Given the description of an element on the screen output the (x, y) to click on. 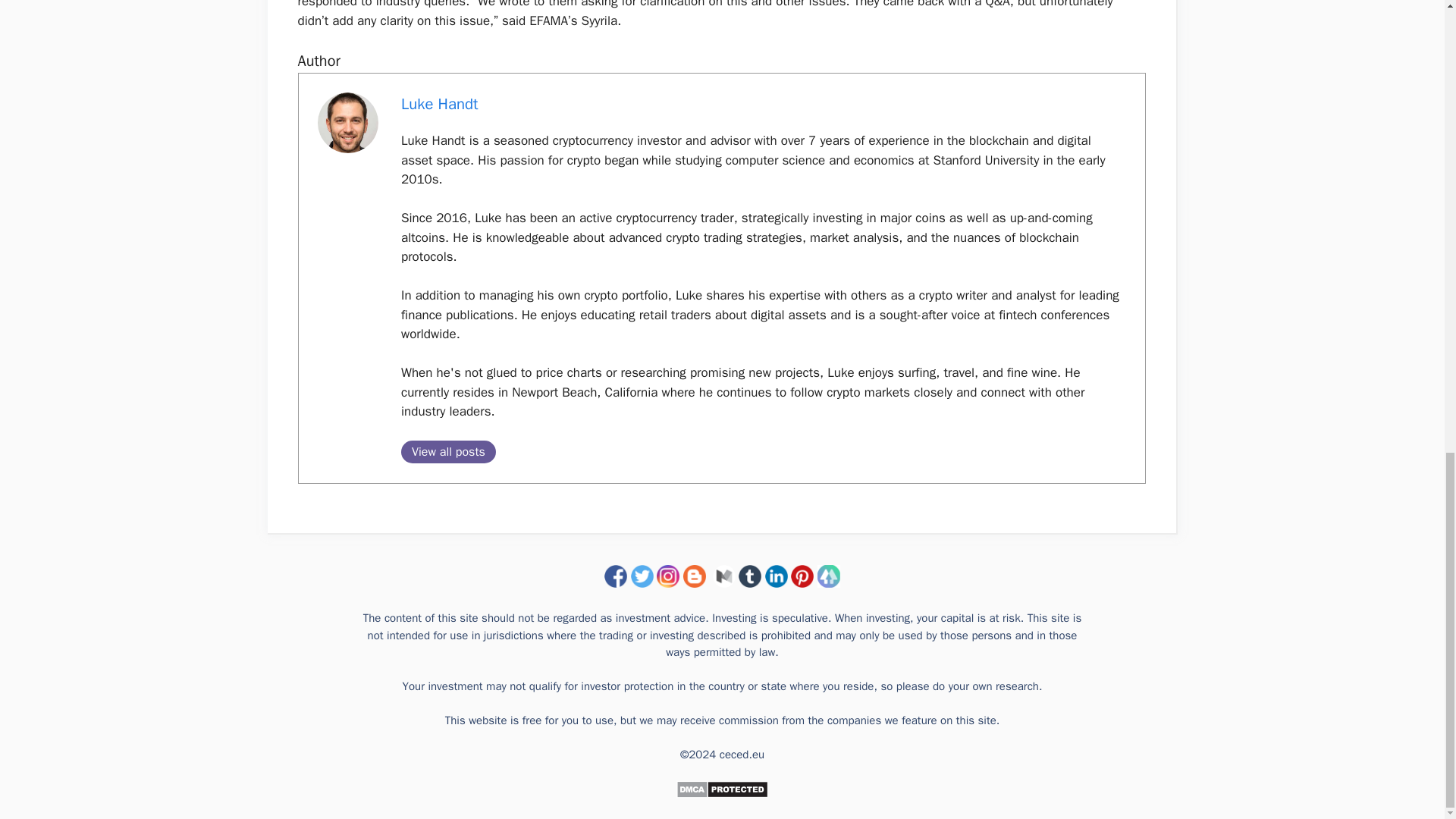
DMCA.com Protection Status (722, 794)
